Given the description of an element on the screen output the (x, y) to click on. 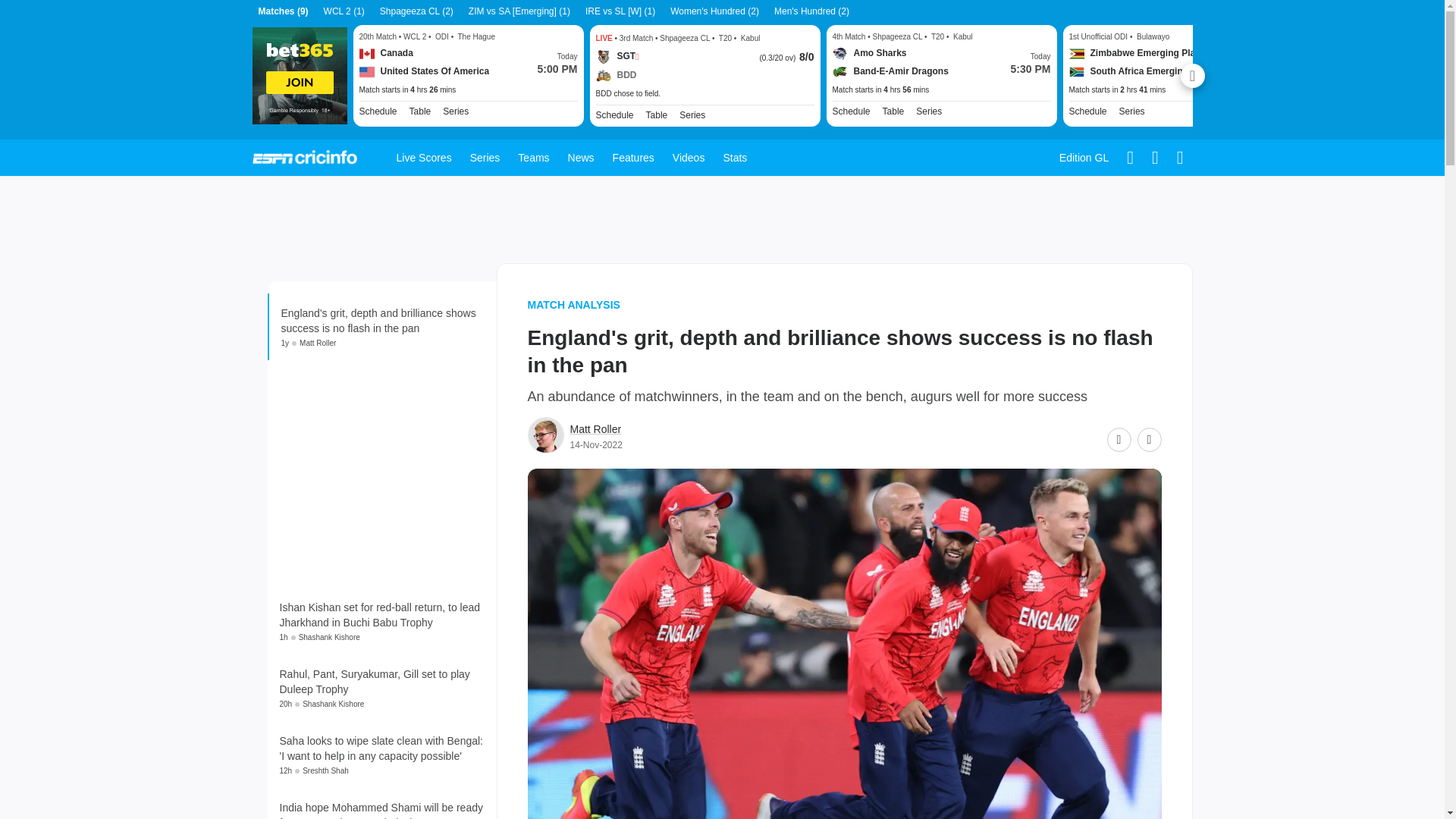
Series (455, 110)
Table (657, 114)
BDD (616, 75)
Series (1131, 110)
AMSKS vs BEAD - 4th Match (941, 90)
Table (893, 110)
ICC Men's Cricket World Cup League 2 (455, 110)
Table (657, 114)
CAN vs USA - 20th Match (468, 90)
Series (928, 110)
